Given the description of an element on the screen output the (x, y) to click on. 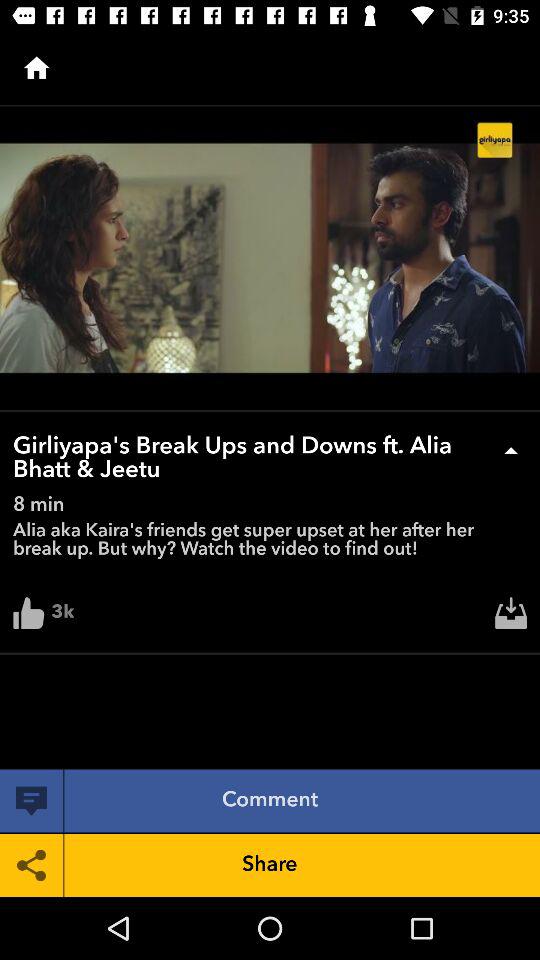
press icon to the right of 3k item (511, 618)
